Given the description of an element on the screen output the (x, y) to click on. 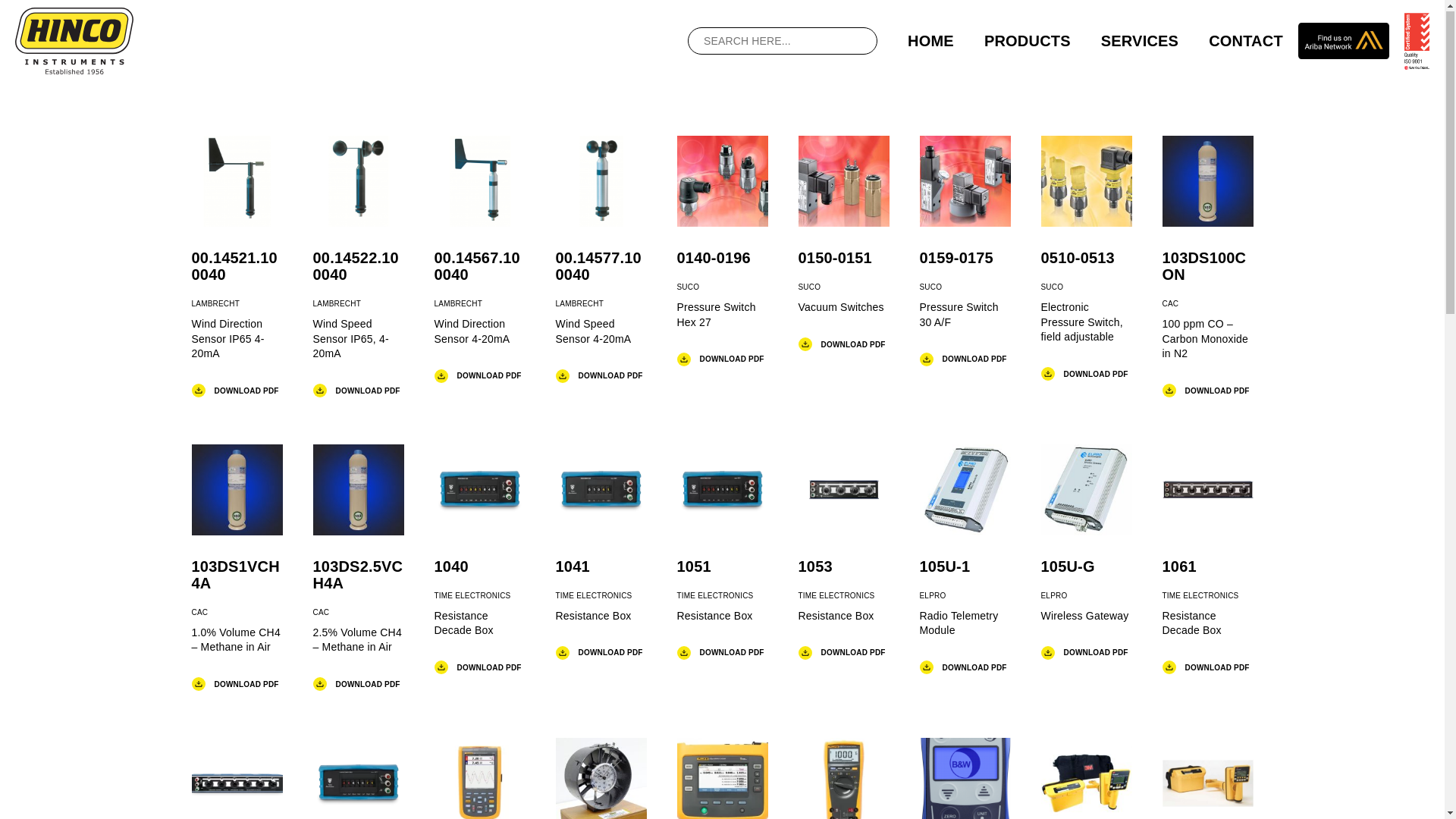
DOWNLOAD PDF Element type: text (1083, 653)
DOWNLOAD PDF Element type: text (962, 359)
DOWNLOAD PDF Element type: text (1083, 374)
00.14577.100040
LAMBRECHT
Wind Speed Sensor 4-20mA Element type: text (600, 259)
HOME Element type: text (930, 41)
SERVICES Element type: text (1139, 41)
DOWNLOAD PDF Element type: text (1204, 668)
DOWNLOAD PDF Element type: text (962, 668)
DOWNLOAD PDF Element type: text (355, 391)
DOWNLOAD PDF Element type: text (476, 668)
DOWNLOAD PDF Element type: text (234, 685)
0159-0175
SUCO
Pressure Switch 30 A/F Element type: text (964, 250)
00.14567.100040
LAMBRECHT
Wind Direction Sensor 4-20mA Element type: text (478, 259)
DOWNLOAD PDF Element type: text (598, 376)
1040
TIME ELECTRONICS
Resistance Decade Box Element type: text (478, 559)
DOWNLOAD PDF Element type: text (719, 653)
1051
TIME ELECTRONICS
Resistance Box Element type: text (721, 552)
00.14521.100040
LAMBRECHT
Wind Direction Sensor IP65 4-20mA Element type: text (236, 266)
PRODUCTS Element type: text (1027, 41)
0140-0196
SUCO
Pressure Switch Hex 27 Element type: text (721, 250)
1061
TIME ELECTRONICS
Resistance Decade Box Element type: text (1206, 559)
1041
TIME ELECTRONICS
Resistance Box Element type: text (600, 552)
DOWNLOAD PDF Element type: text (234, 391)
DOWNLOAD PDF Element type: text (1204, 391)
DOWNLOAD PDF Element type: text (840, 345)
105U-1
ELPRO
Radio Telemetry Module Element type: text (964, 559)
DOWNLOAD PDF Element type: text (840, 653)
CONTACT Element type: text (1245, 41)
00.14522.100040
LAMBRECHT
Wind Speed Sensor IP65, 4-20mA Element type: text (357, 266)
DOWNLOAD PDF Element type: text (598, 653)
0510-0513
SUCO
Electronic Pressure Switch, field adjustable Element type: text (1085, 258)
105U-G
ELPRO
Wireless Gateway Element type: text (1085, 552)
1053
TIME ELECTRONICS
Resistance Box Element type: text (842, 552)
DOWNLOAD PDF Element type: text (476, 376)
0150-0151
SUCO
Vacuum Switches Element type: text (842, 243)
DOWNLOAD PDF Element type: text (355, 685)
DOWNLOAD PDF Element type: text (719, 359)
